Given the description of an element on the screen output the (x, y) to click on. 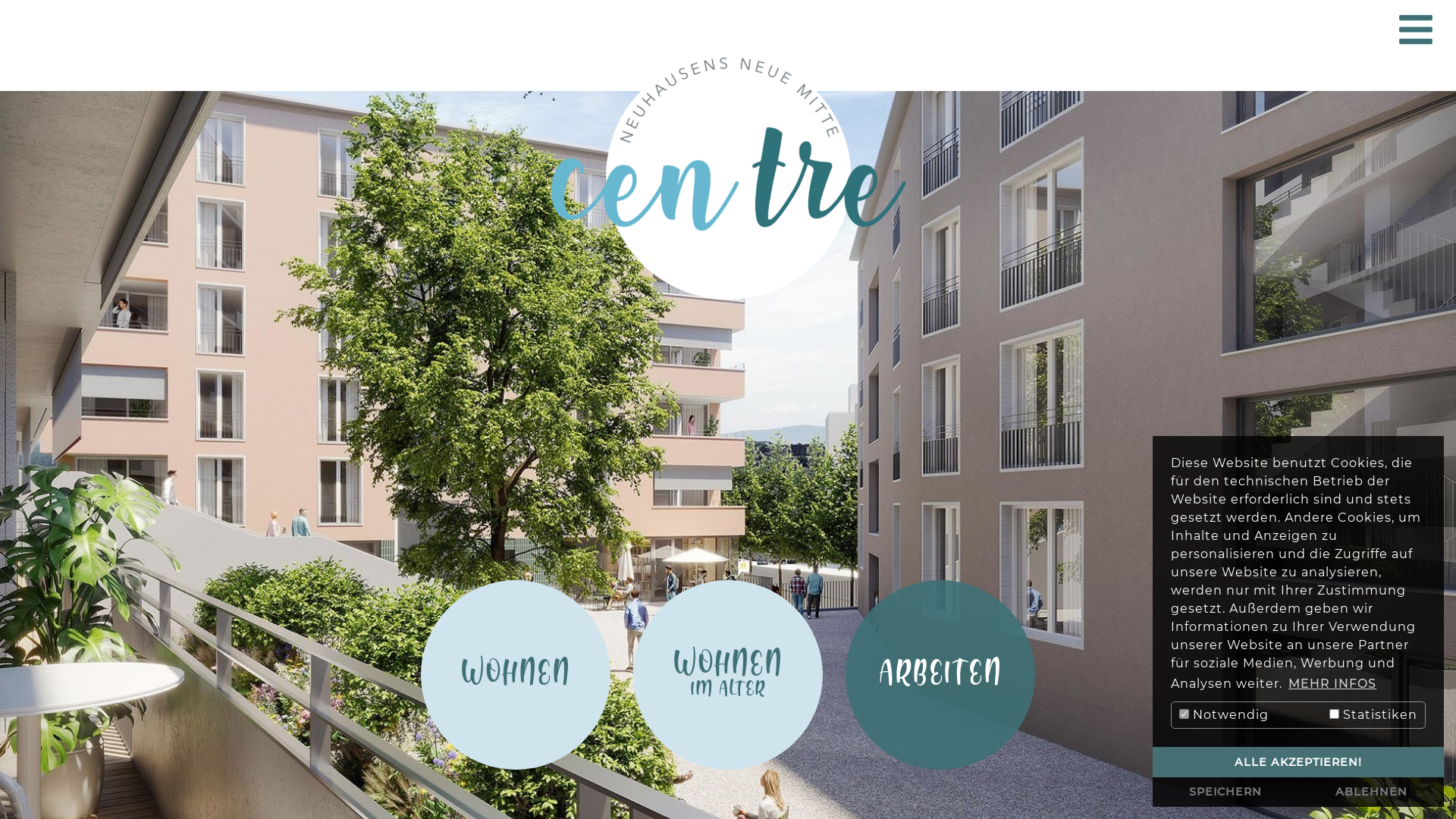
SPEICHERN Element type: text (1225, 791)
WOHNEN
IM ALTER Element type: text (727, 674)
ABLEHNEN Element type: text (1370, 791)
ARBEITEN Element type: text (940, 674)
WOHNEN Element type: text (515, 674)
ALLE AKZEPTIEREN! Element type: text (1297, 761)
MEHR INFOS Element type: text (1332, 683)
